Given the description of an element on the screen output the (x, y) to click on. 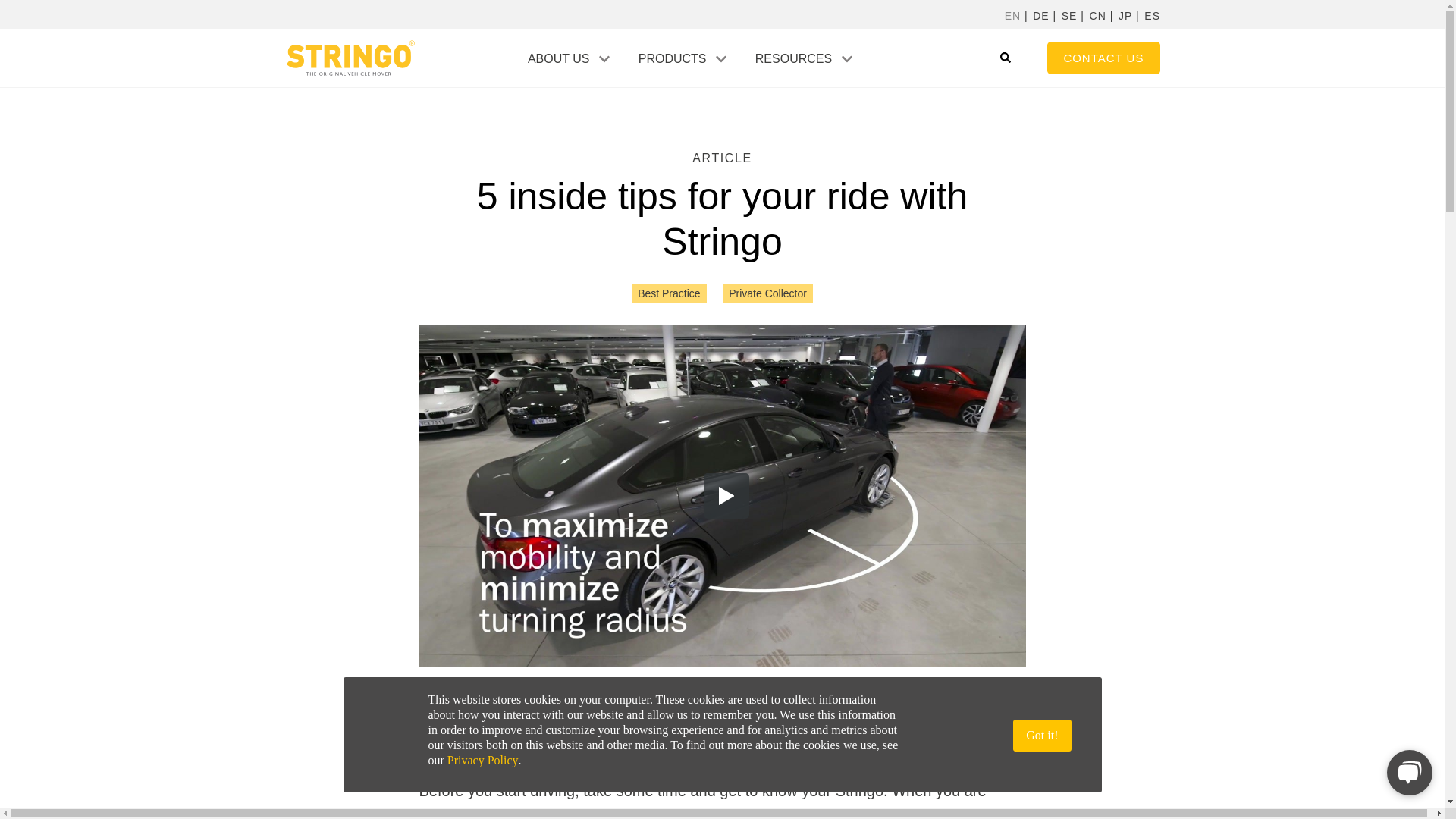
Best Practice (668, 293)
EN (1012, 16)
RESOURCES (793, 58)
Privacy Policy (482, 759)
ES (1152, 16)
Chat Widget (1406, 770)
CN (1097, 16)
PRODUCTS (672, 58)
JP (1125, 16)
Private Collector (767, 293)
SE (1069, 16)
CONTACT US (1103, 57)
DE (1040, 16)
Got it! (1041, 735)
ABOUT US (558, 58)
